Given the description of an element on the screen output the (x, y) to click on. 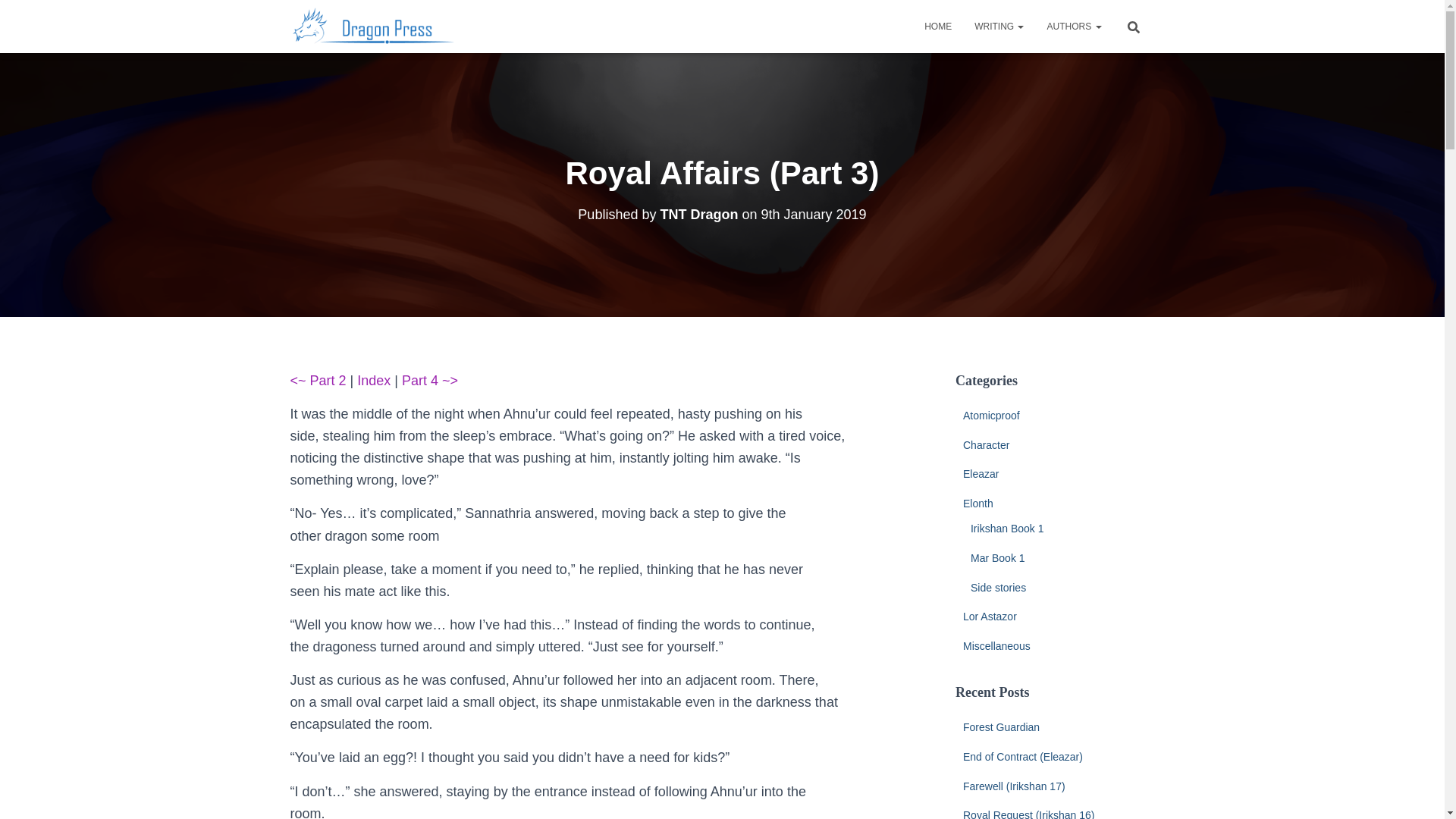
Side stories (998, 587)
WRITING (998, 26)
Writing (998, 26)
Irikshan Book 1 (1007, 528)
Dragon Press (373, 26)
Eleazar (980, 473)
TNT Dragon (698, 214)
AUTHORS (1073, 26)
Search (16, 16)
Character (985, 444)
